Given the description of an element on the screen output the (x, y) to click on. 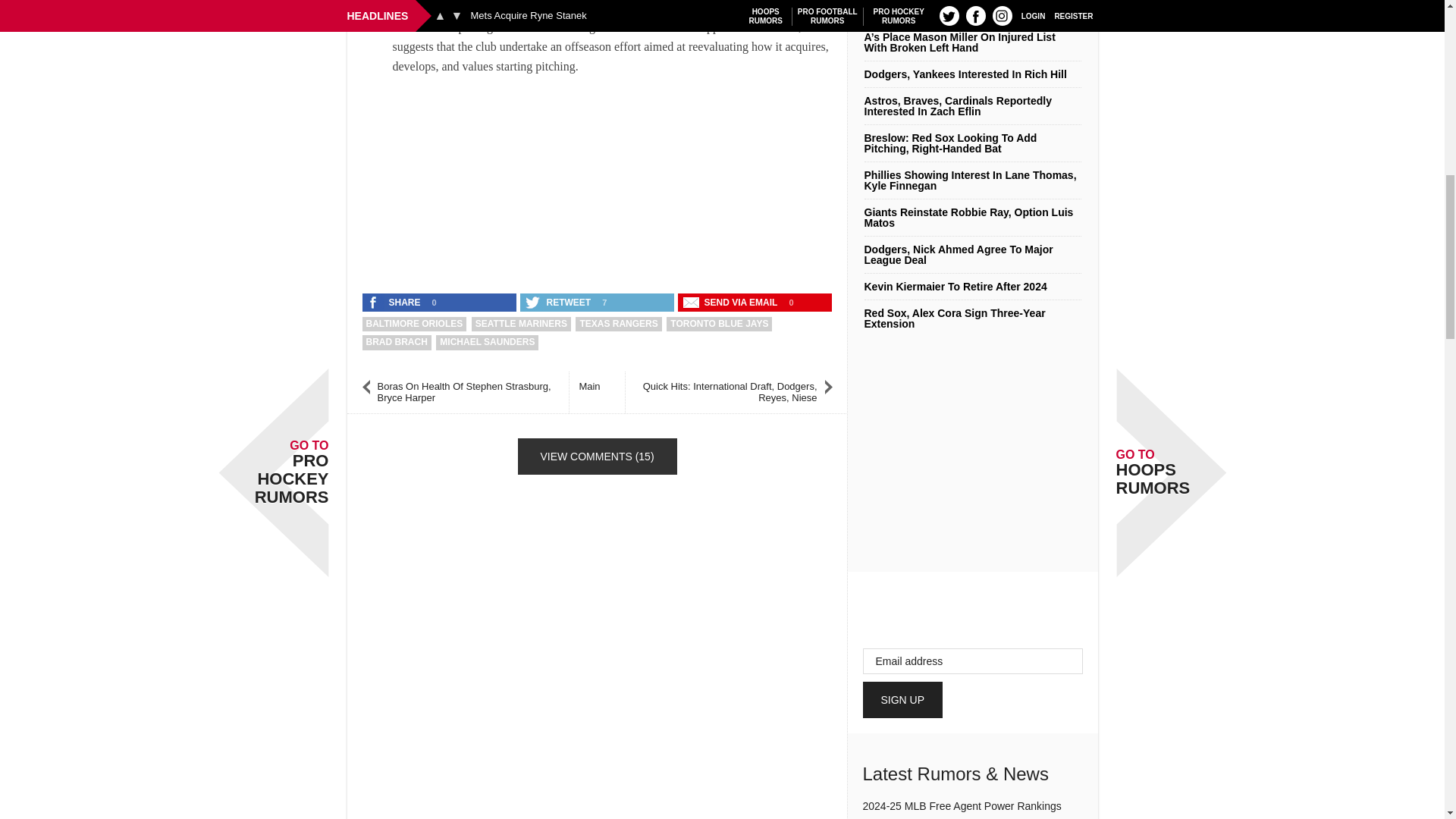
Sign Up (903, 699)
